Given the description of an element on the screen output the (x, y) to click on. 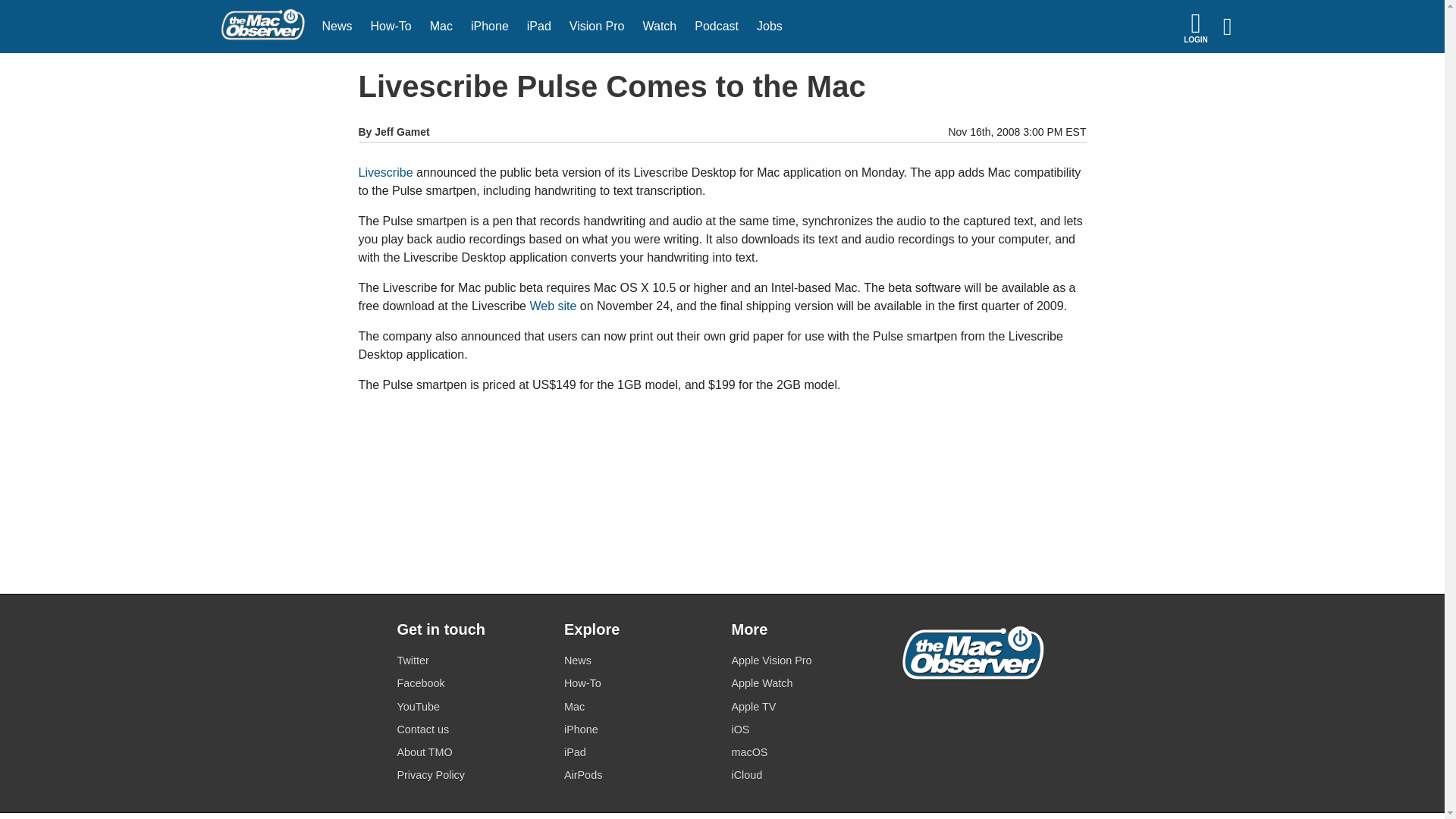
How-To (638, 683)
macOS (805, 752)
Twitter (471, 660)
Contact us (471, 729)
News (337, 26)
Apple TV (805, 706)
iCloud (805, 774)
Vision Pro (596, 26)
Livescribe (385, 172)
Watch (659, 26)
